Given the description of an element on the screen output the (x, y) to click on. 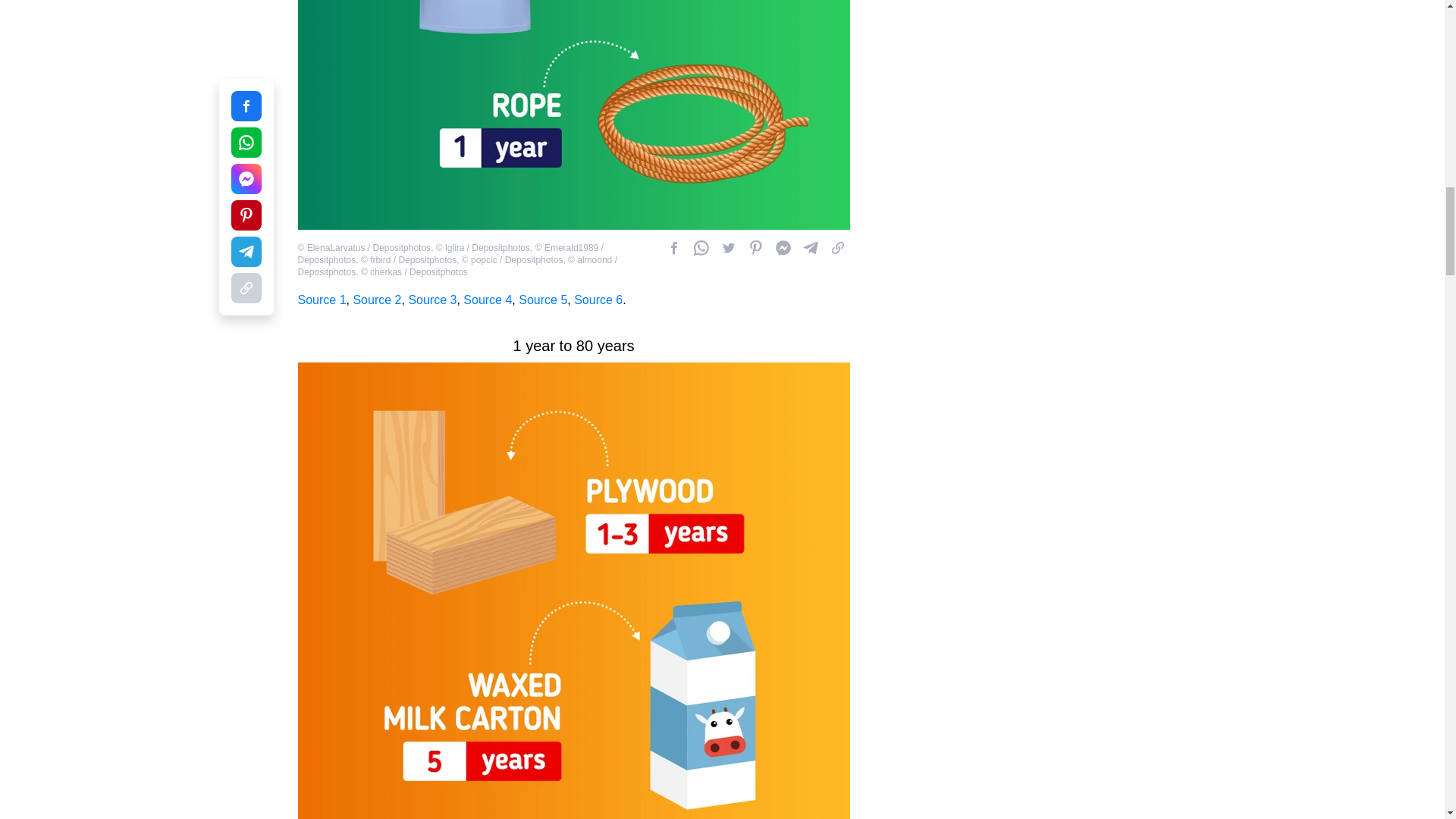
Share on Facebook (673, 247)
Share on Pinterest (754, 247)
Copy link (836, 247)
Share on Twitter (727, 247)
Share on WhatsApp (700, 247)
Share on Facebook (782, 247)
Share on Telegram (809, 247)
